Given the description of an element on the screen output the (x, y) to click on. 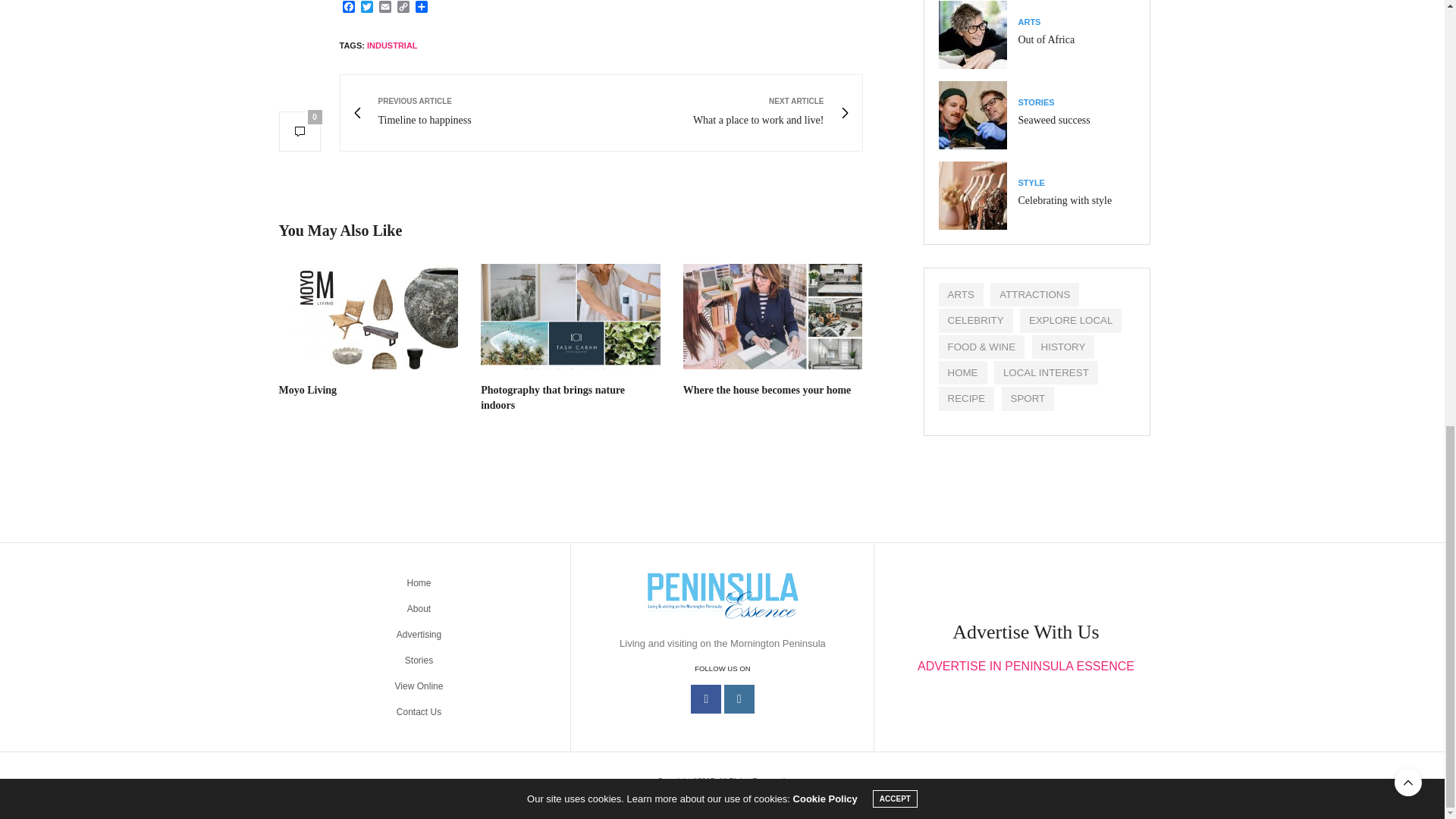
Moyo Living (308, 389)
Facebook (348, 7)
Twitter (366, 7)
Moyo Living (308, 389)
Email (384, 7)
INDUSTRIAL (391, 44)
Photography that brings nature indoors (552, 397)
Moyo Living (726, 112)
Twitter (368, 316)
